Given the description of an element on the screen output the (x, y) to click on. 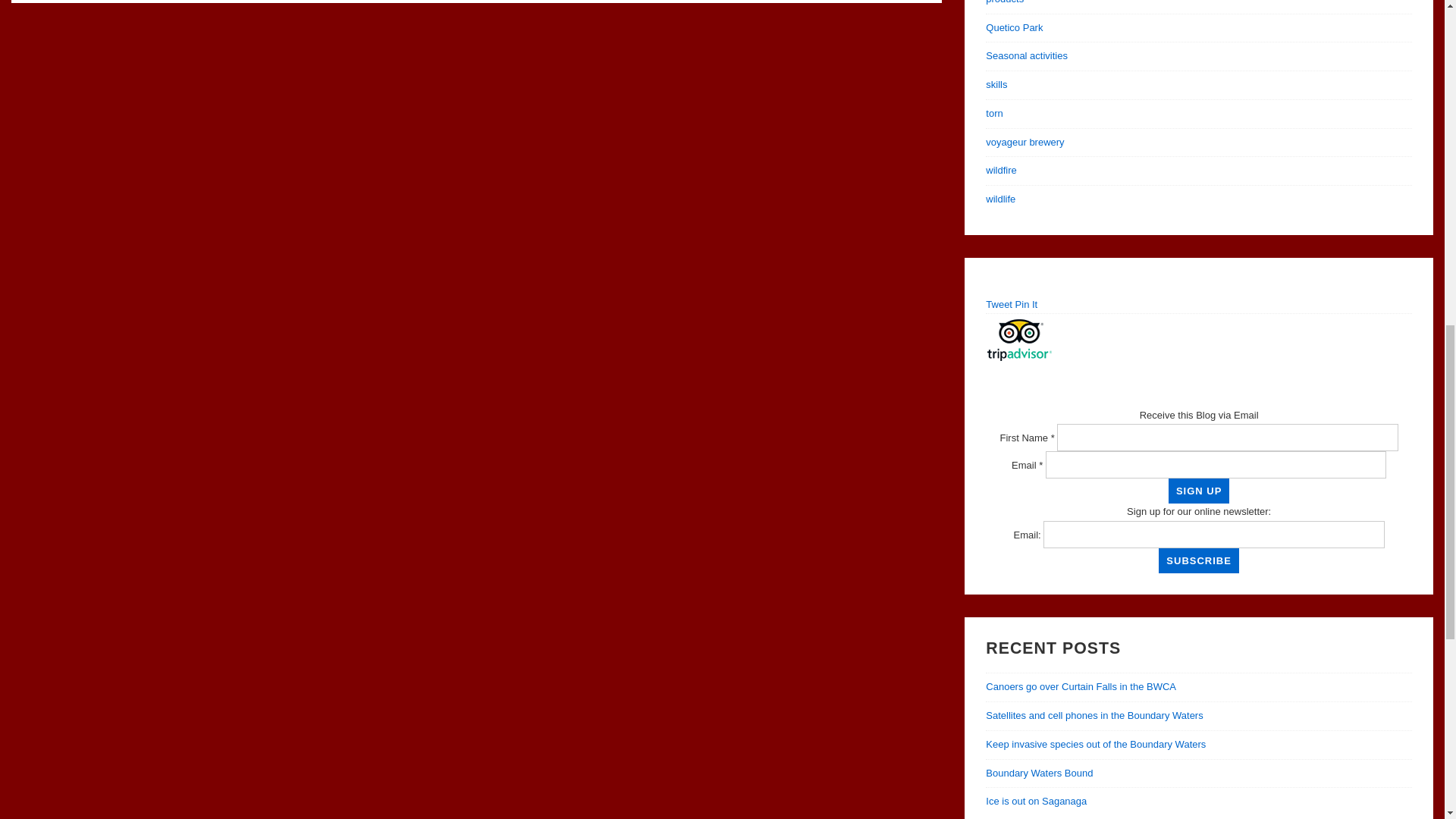
skills (996, 84)
Canoers go over Curtain Falls in the BWCA (1080, 686)
Sign Up (1198, 490)
wildfire (1000, 170)
wildlife (999, 198)
Quetico Park (1013, 27)
Pin It (1026, 304)
torn (994, 112)
Sign Up (1198, 490)
voyageur brewery (1024, 142)
products (1004, 2)
Seasonal activities (1026, 55)
Tweet (998, 304)
Subscribe (1198, 560)
Subscribe (1198, 560)
